Given the description of an element on the screen output the (x, y) to click on. 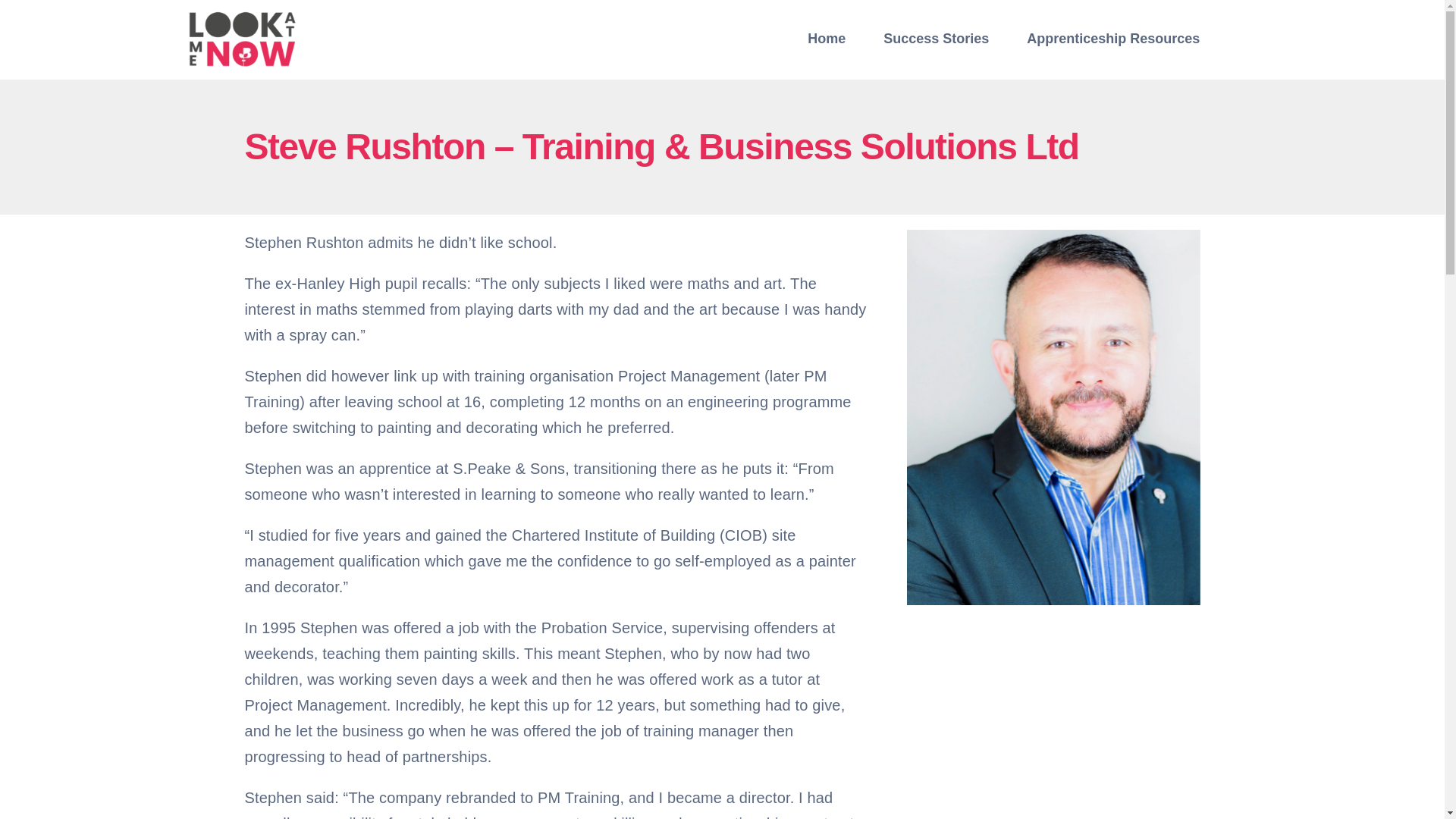
Home (826, 39)
Success Stories (935, 39)
Apprenticeship Resources (1112, 39)
